Given the description of an element on the screen output the (x, y) to click on. 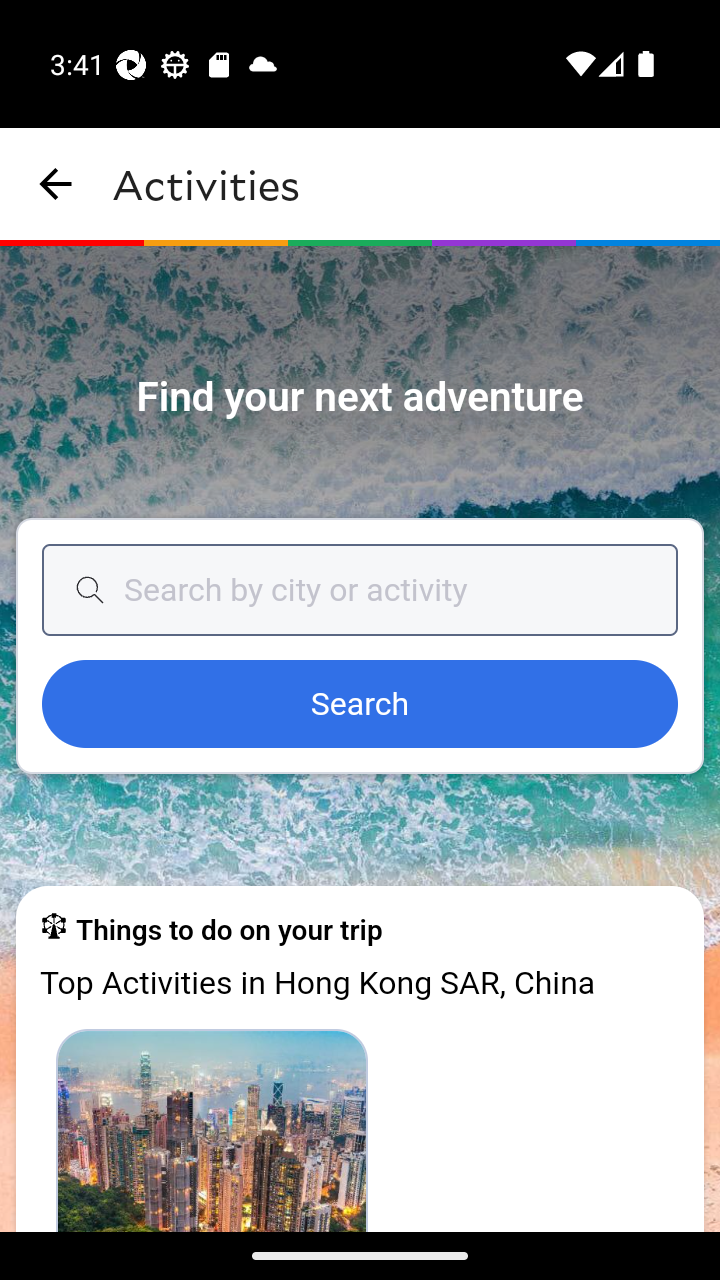
navigation_button (56, 184)
Search (359, 705)
Find top deals Hong Kong Find top deals (211, 1129)
